Given the description of an element on the screen output the (x, y) to click on. 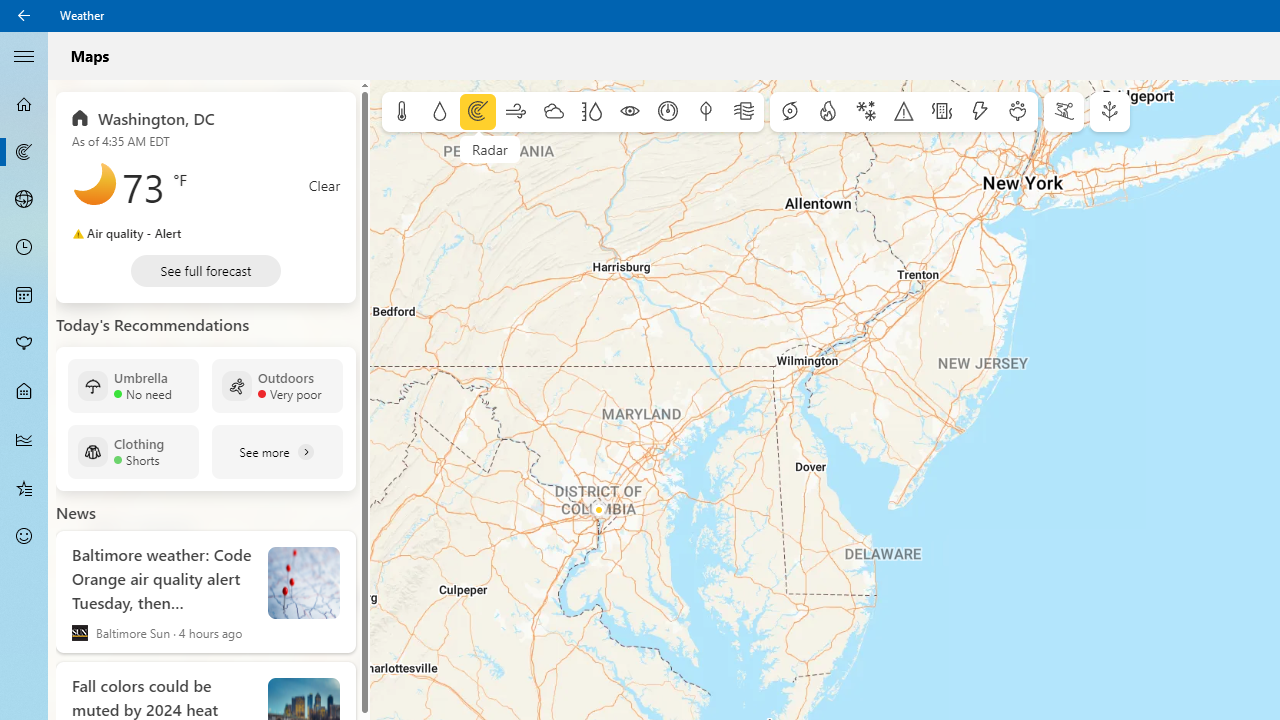
Life - Not Selected (24, 391)
Hourly Forecast - Not Selected (24, 247)
Forecast - Not Selected (24, 103)
Pollen - Not Selected (24, 343)
Collapse Navigation (24, 55)
Maps - Not Selected (24, 151)
Hourly Forecast - Not Selected (24, 247)
3D Maps - Not Selected (24, 199)
Historical Weather - Not Selected (24, 439)
Monthly Forecast - Not Selected (24, 295)
Maps - Not Selected (24, 151)
3D Maps - Not Selected (24, 199)
Send Feedback - Not Selected (24, 535)
Favorites - Not Selected (24, 487)
Send Feedback - Not Selected (24, 535)
